Given the description of an element on the screen output the (x, y) to click on. 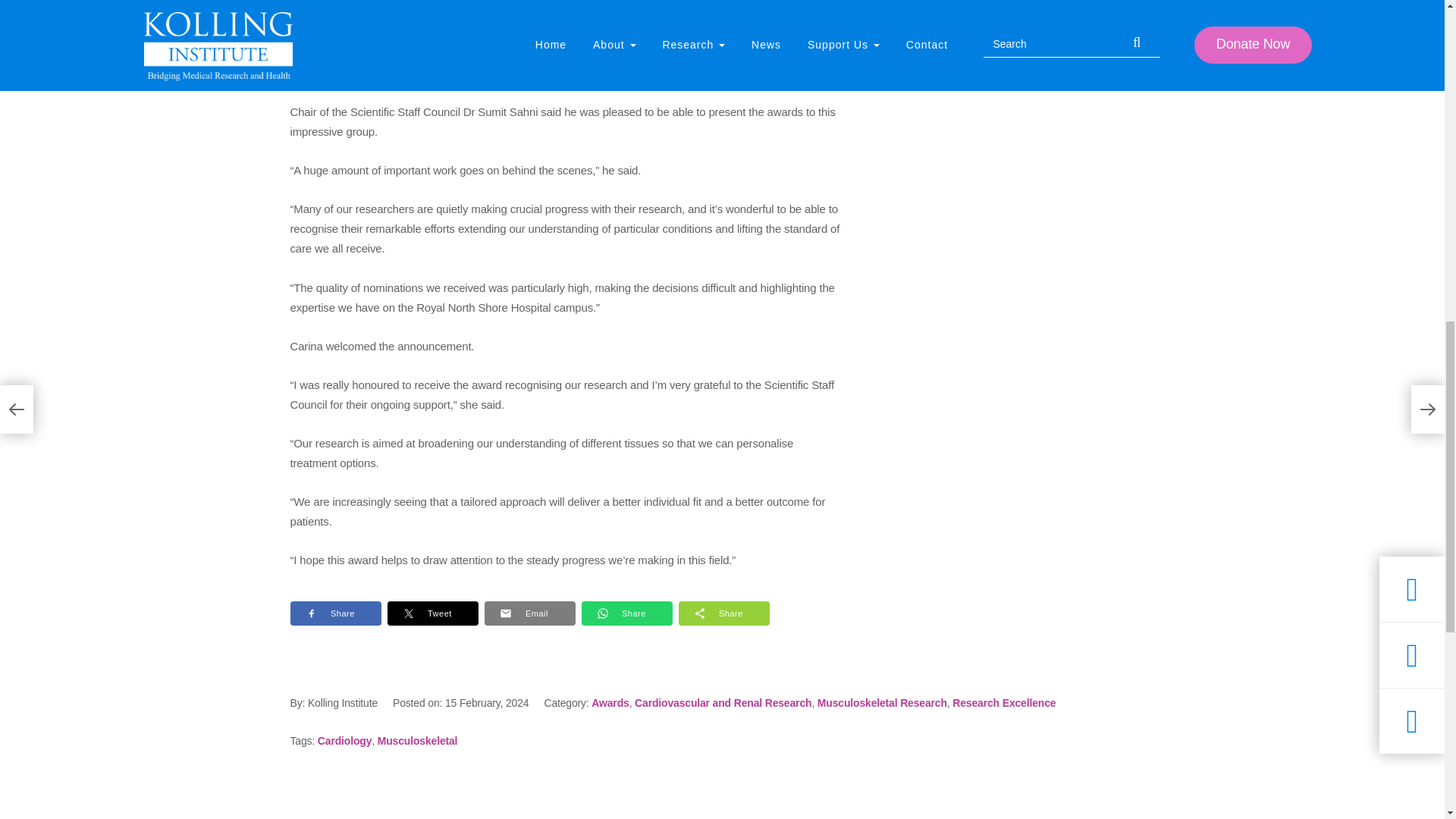
Musculoskeletal (417, 740)
Cardiovascular and Renal Research (722, 702)
Musculoskeletal Research (881, 702)
Awards (609, 702)
Research Excellence (1003, 702)
Cardiology (344, 740)
